Given the description of an element on the screen output the (x, y) to click on. 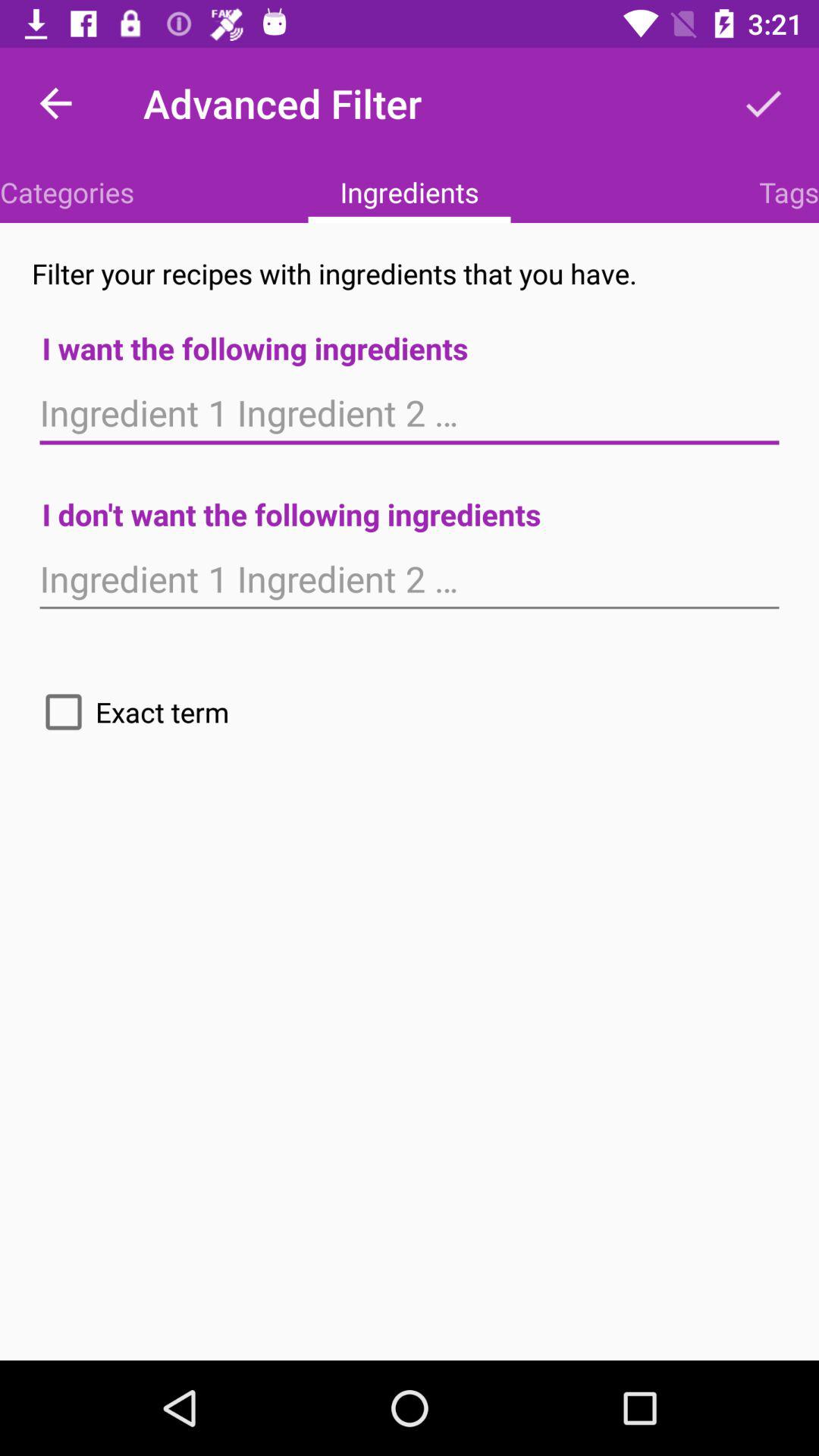
turn off the app above the tags app (763, 103)
